Given the description of an element on the screen output the (x, y) to click on. 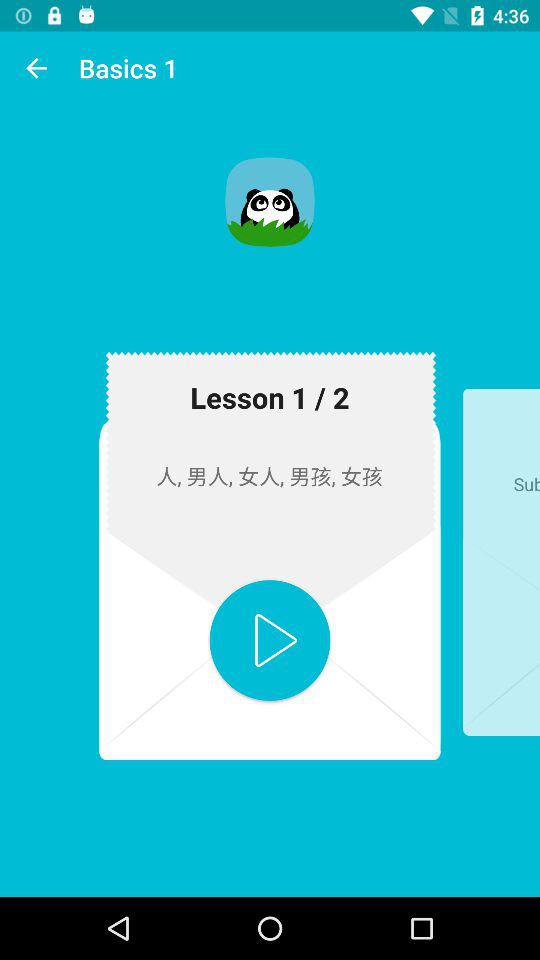
play button (269, 640)
